Given the description of an element on the screen output the (x, y) to click on. 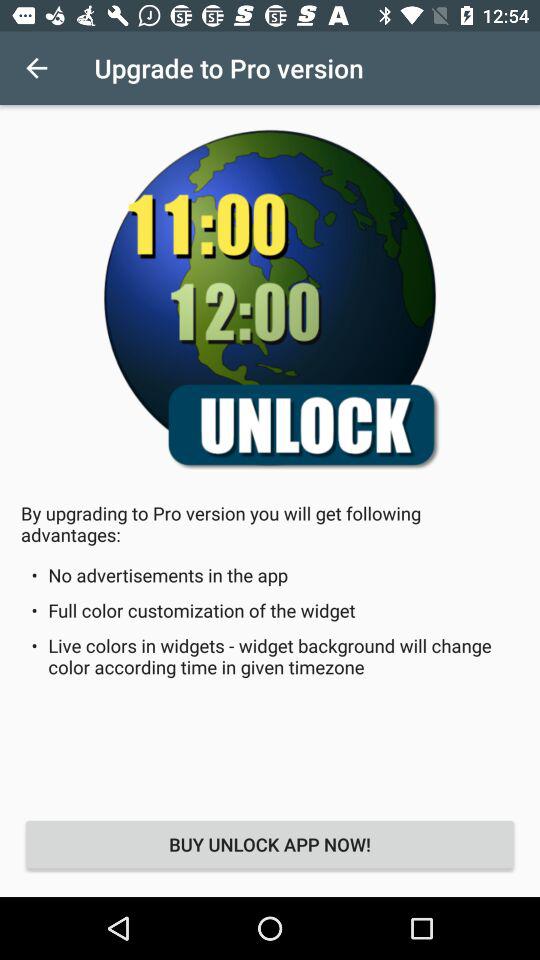
select the icon below live colors in item (270, 844)
